Given the description of an element on the screen output the (x, y) to click on. 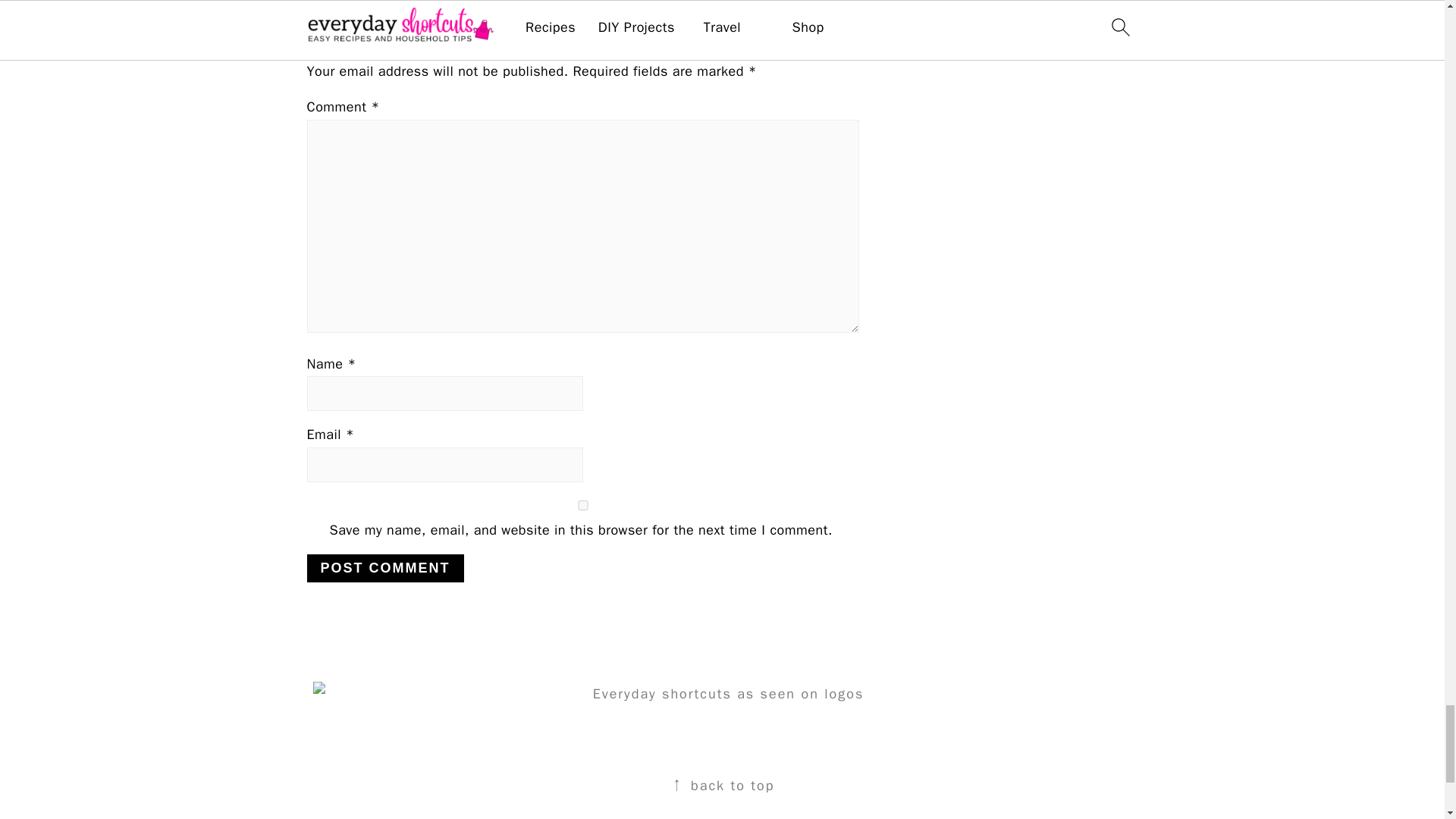
Post Comment (384, 568)
yes (582, 505)
